Given the description of an element on the screen output the (x, y) to click on. 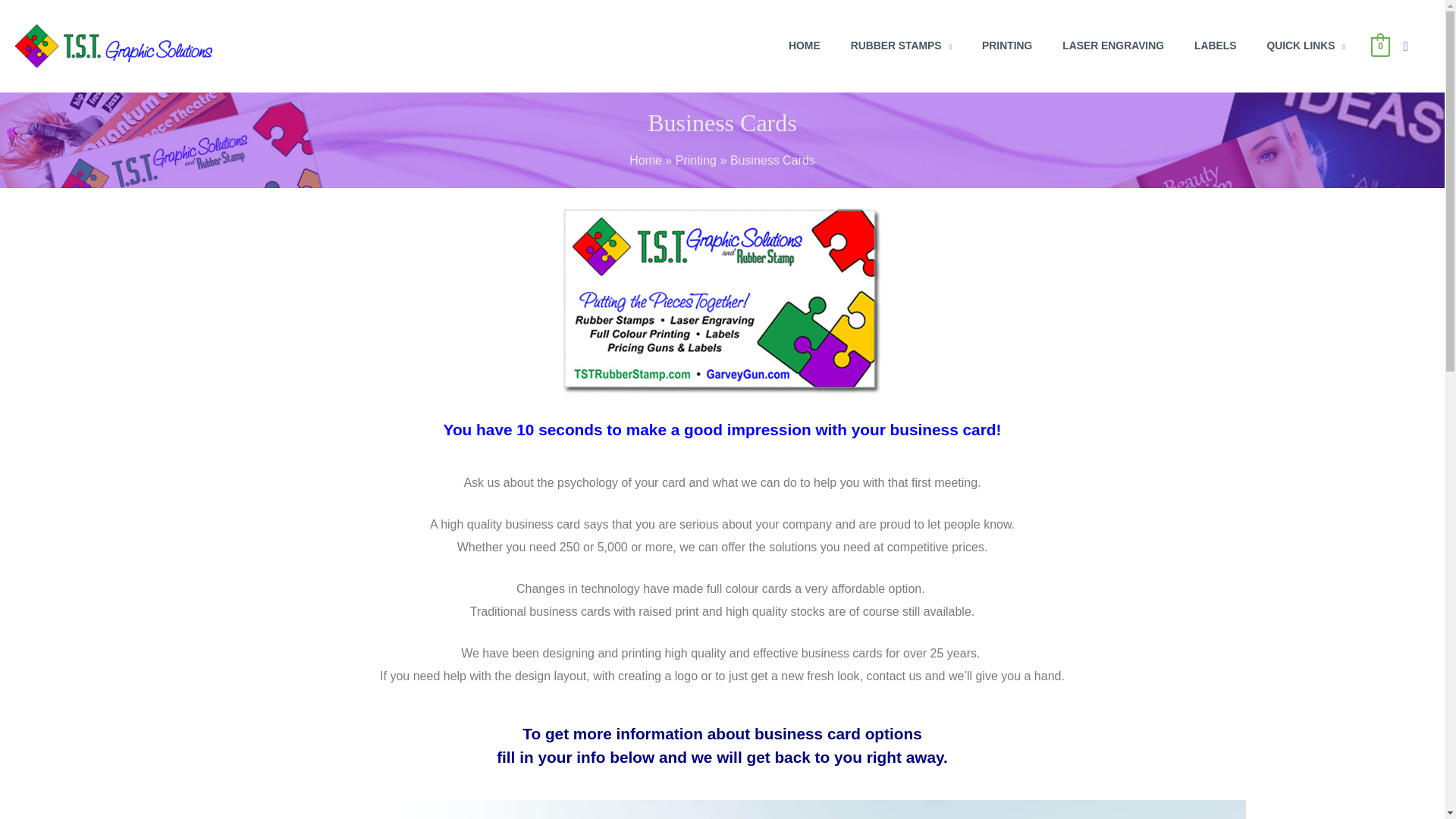
QUICK LINKS (1304, 45)
RUBBER STAMPS (900, 45)
Printing (697, 160)
0 (1380, 46)
PRINTING (1006, 45)
HOME (804, 45)
Home (645, 160)
LASER ENGRAVING (1112, 45)
LABELS (1214, 45)
Printing (697, 160)
